Given the description of an element on the screen output the (x, y) to click on. 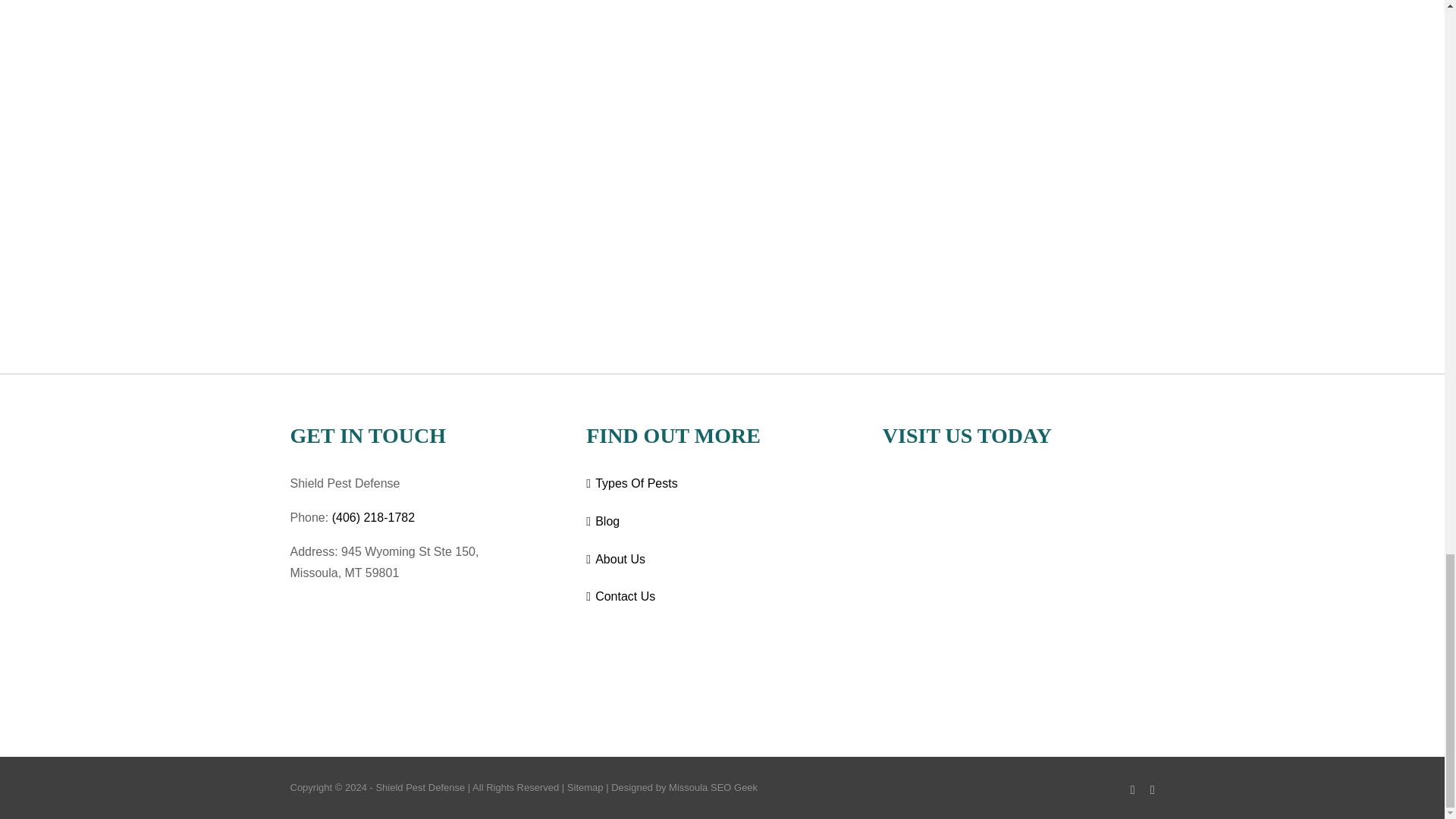
Facebook (1133, 789)
Missoula SEO Geek (712, 787)
Blog (722, 522)
About Us (722, 559)
Types Of Pests (722, 484)
Contact Us (722, 597)
Rss (1152, 789)
Sitemap (585, 787)
